Given the description of an element on the screen output the (x, y) to click on. 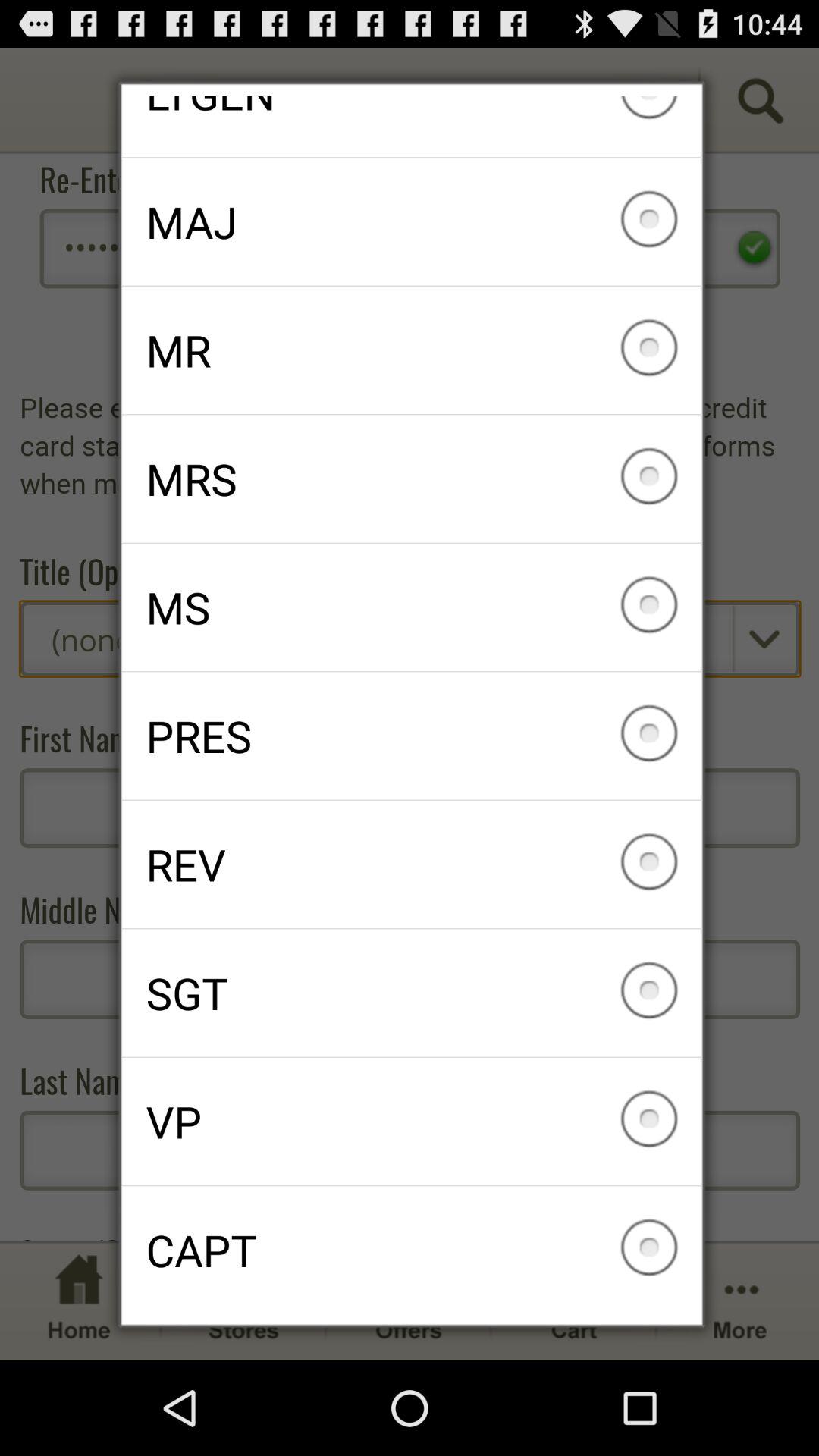
press pres checkbox (411, 735)
